Given the description of an element on the screen output the (x, y) to click on. 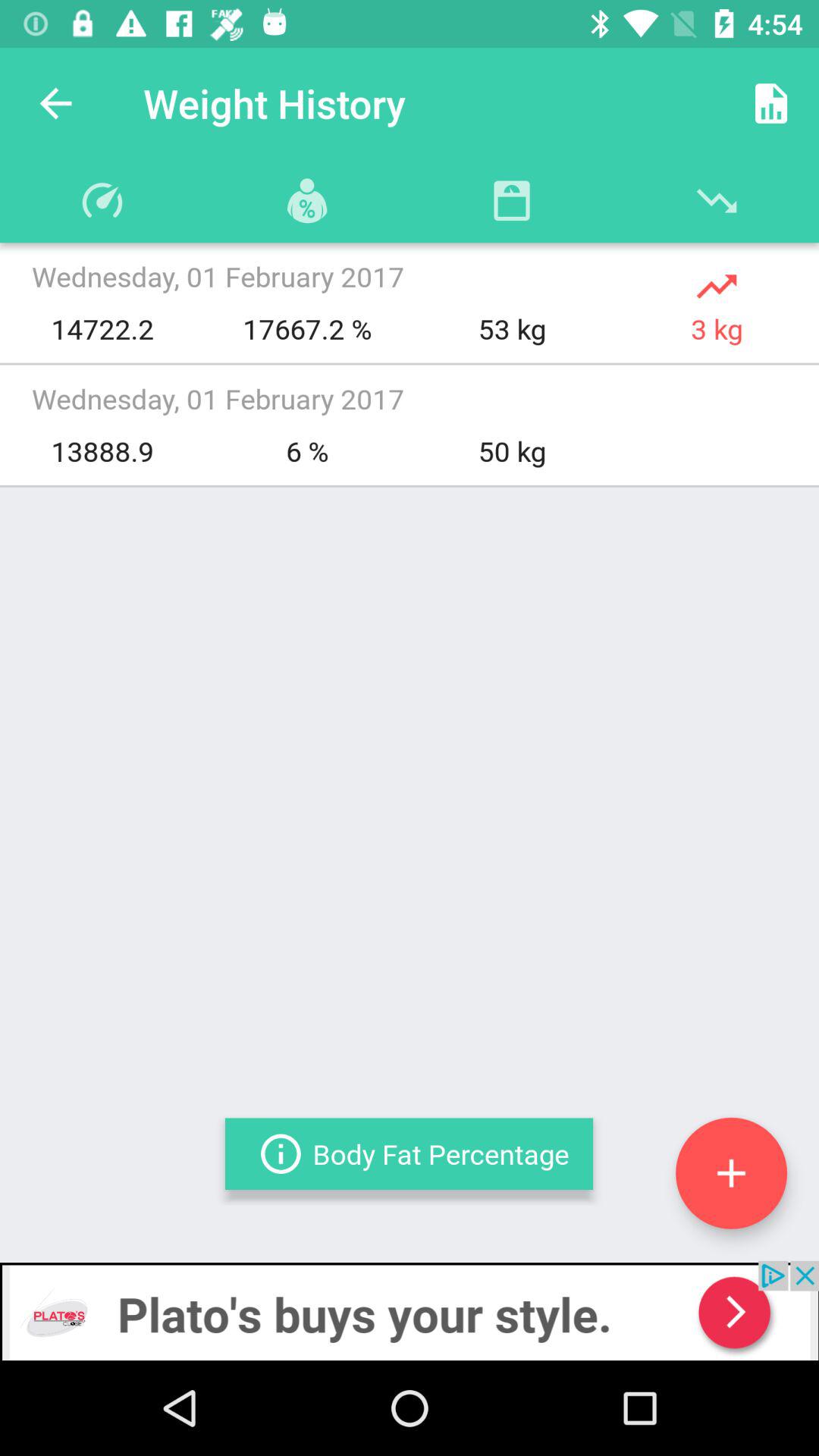
add weight (731, 1173)
